Given the description of an element on the screen output the (x, y) to click on. 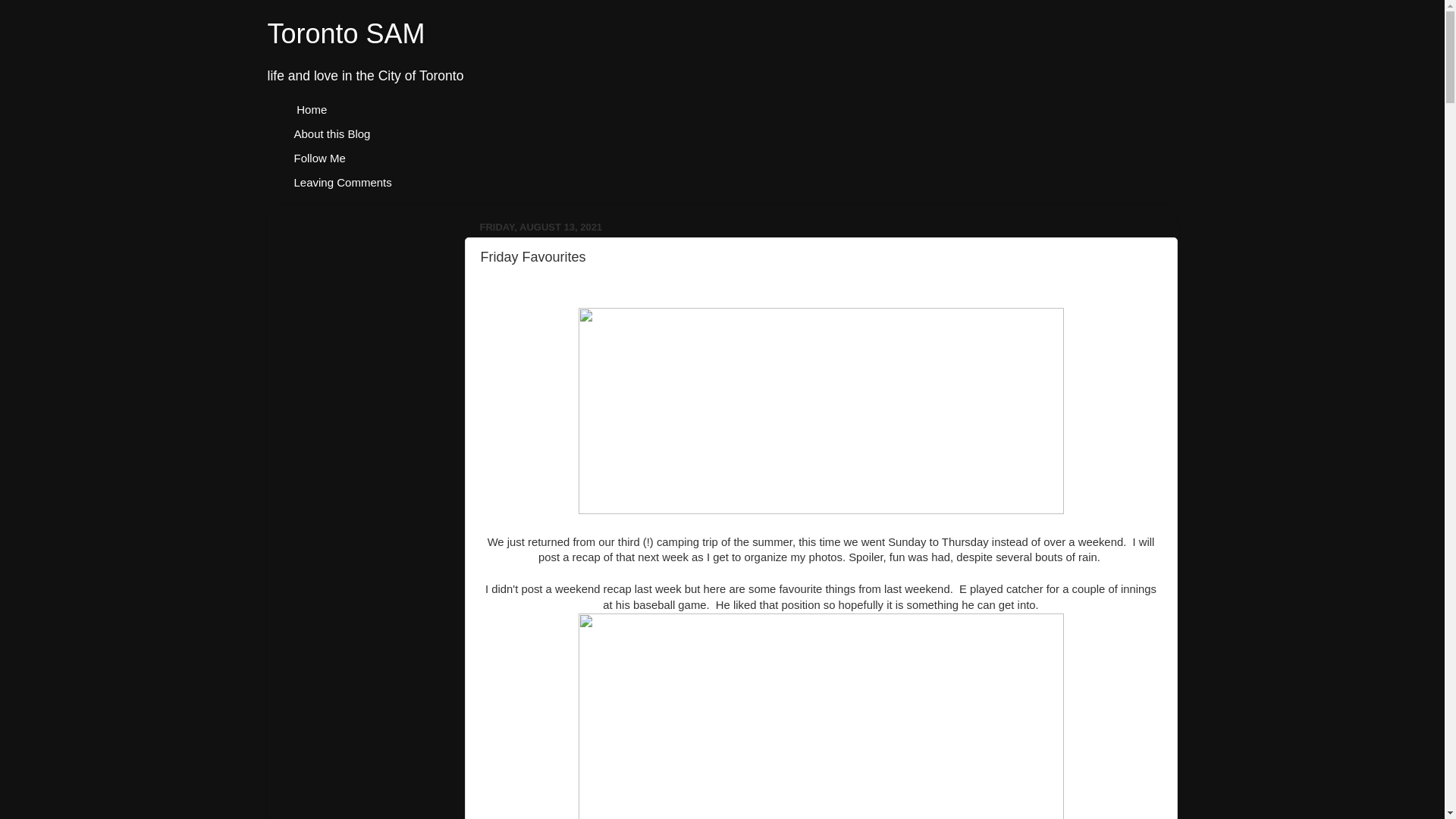
Follow Me (319, 158)
Leaving Comments (342, 182)
Home (310, 109)
Toronto SAM (345, 33)
About this Blog (331, 134)
